Given the description of an element on the screen output the (x, y) to click on. 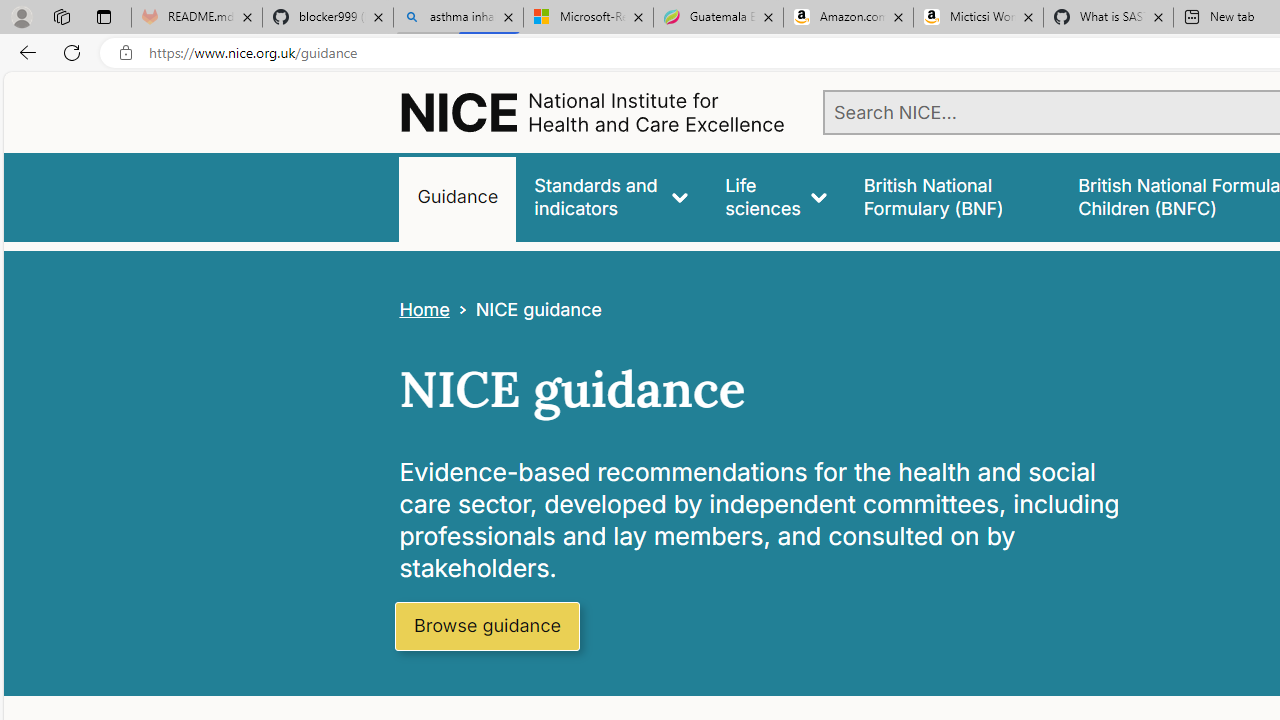
Guidance (458, 196)
>NICE guidance (525, 309)
Life sciences (776, 196)
asthma inhaler - Search (458, 17)
